Given the description of an element on the screen output the (x, y) to click on. 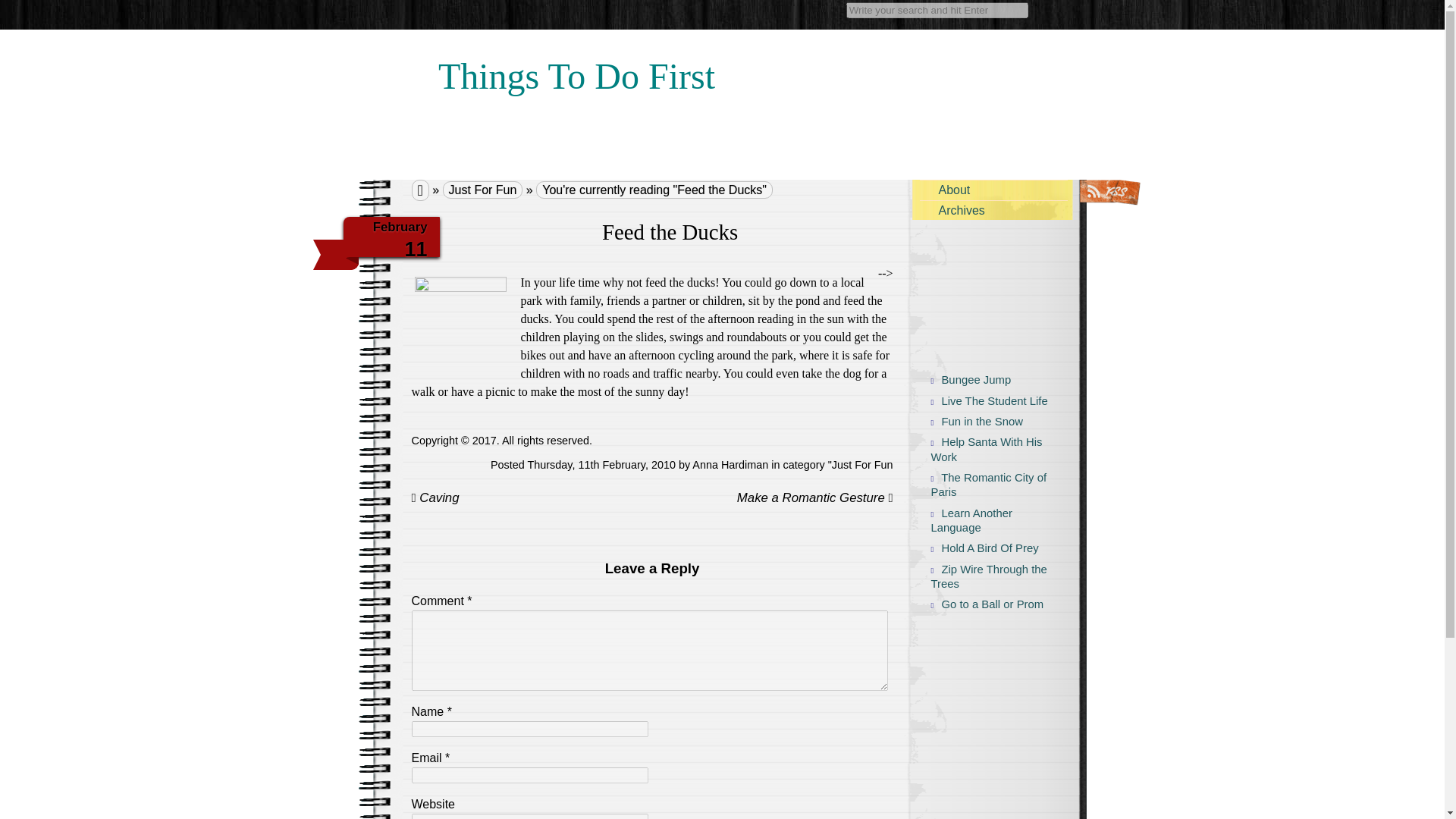
The Romantic City of Paris (985, 485)
About (992, 189)
Fun in the Snow (985, 421)
Help Santa With His Work (985, 449)
Just For Fun (482, 189)
Caving (434, 497)
Hold A Bird Of Prey (985, 548)
Go to a Ball or Prom (985, 604)
Things To Do First (576, 66)
Just For Fun (862, 464)
